Given the description of an element on the screen output the (x, y) to click on. 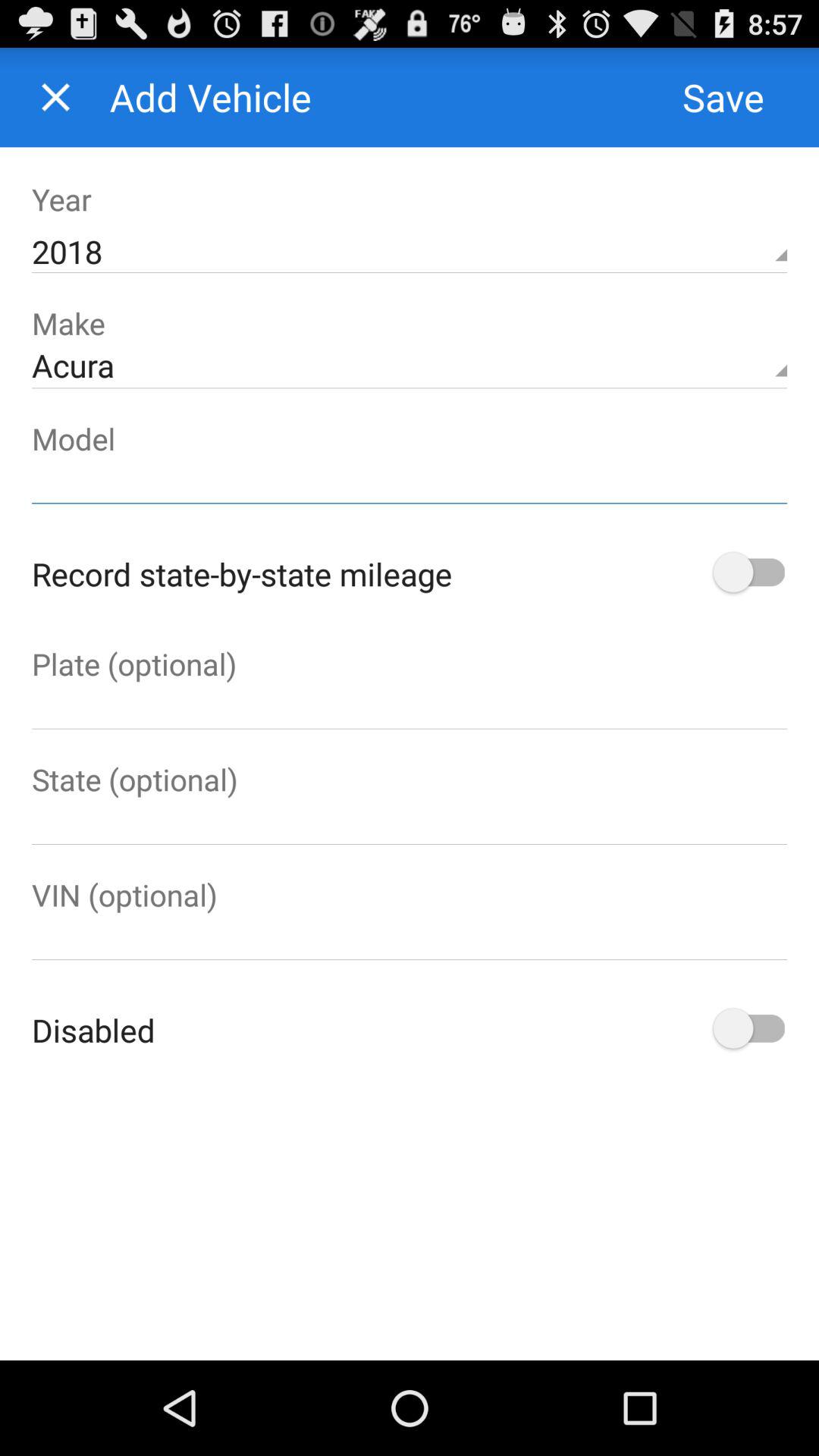
close the page (55, 97)
